Given the description of an element on the screen output the (x, y) to click on. 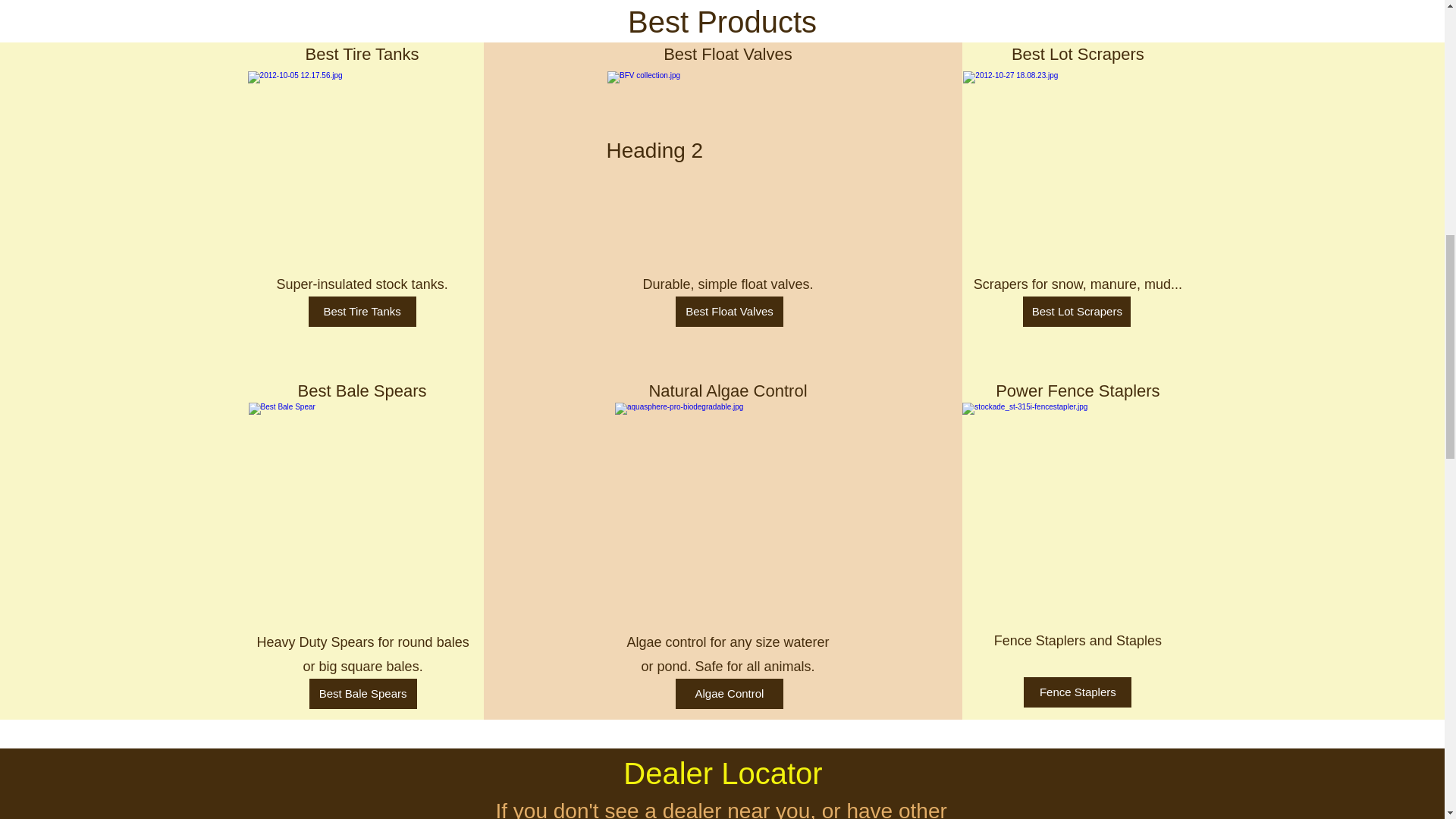
Fence Staplers (1077, 692)
Best Tire Tanks (362, 311)
Algae Control (729, 693)
Best Float Valves (729, 311)
Best Bale Spears (362, 693)
Best Lot Scrapers (1077, 311)
